Given the description of an element on the screen output the (x, y) to click on. 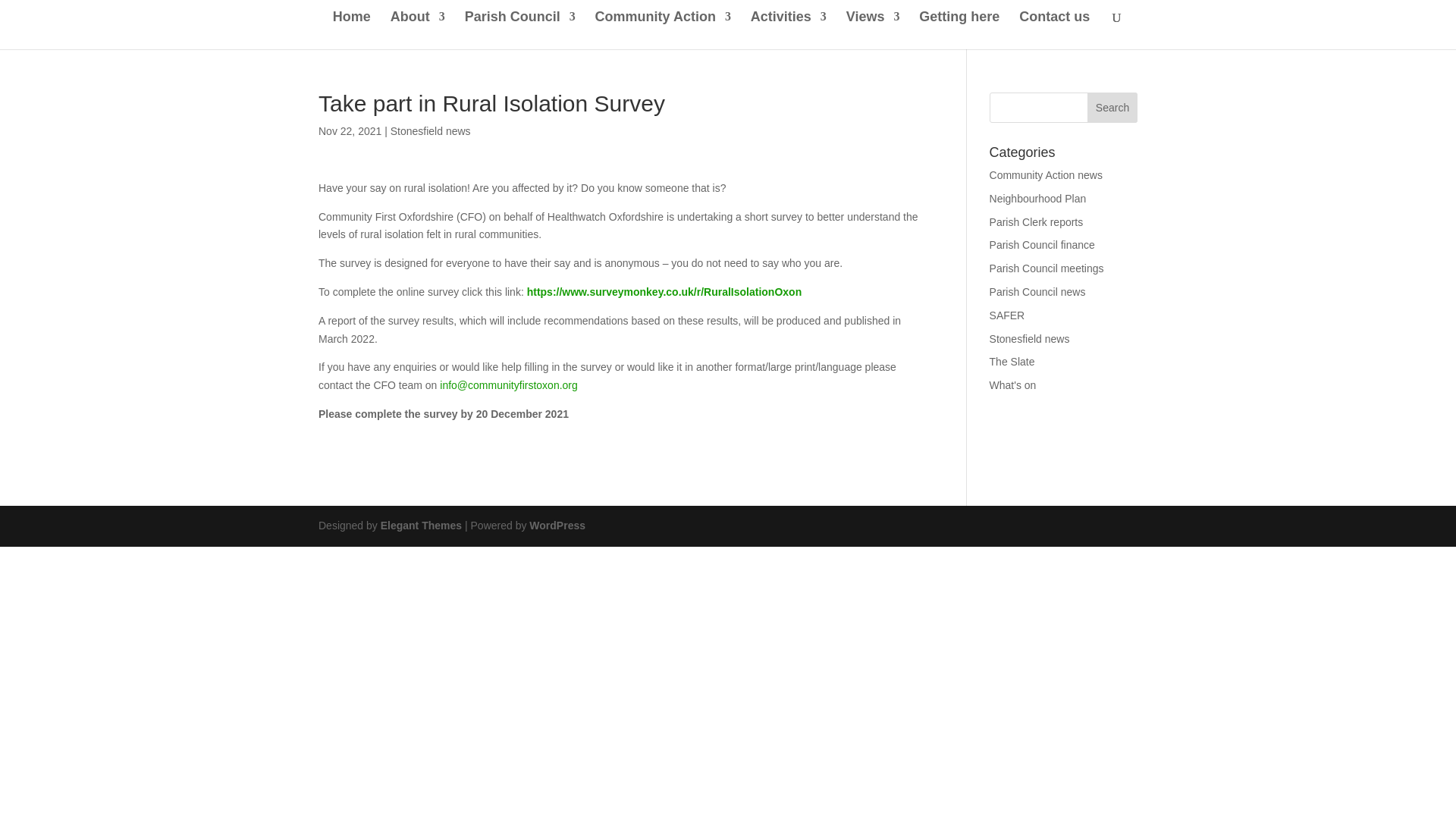
Parish Council (519, 30)
Getting here (958, 30)
About (417, 30)
Community Action (662, 30)
Home (352, 30)
Views (872, 30)
Contact us (1054, 30)
Search (1112, 107)
Premium WordPress Themes (420, 525)
Activities (789, 30)
